Given the description of an element on the screen output the (x, y) to click on. 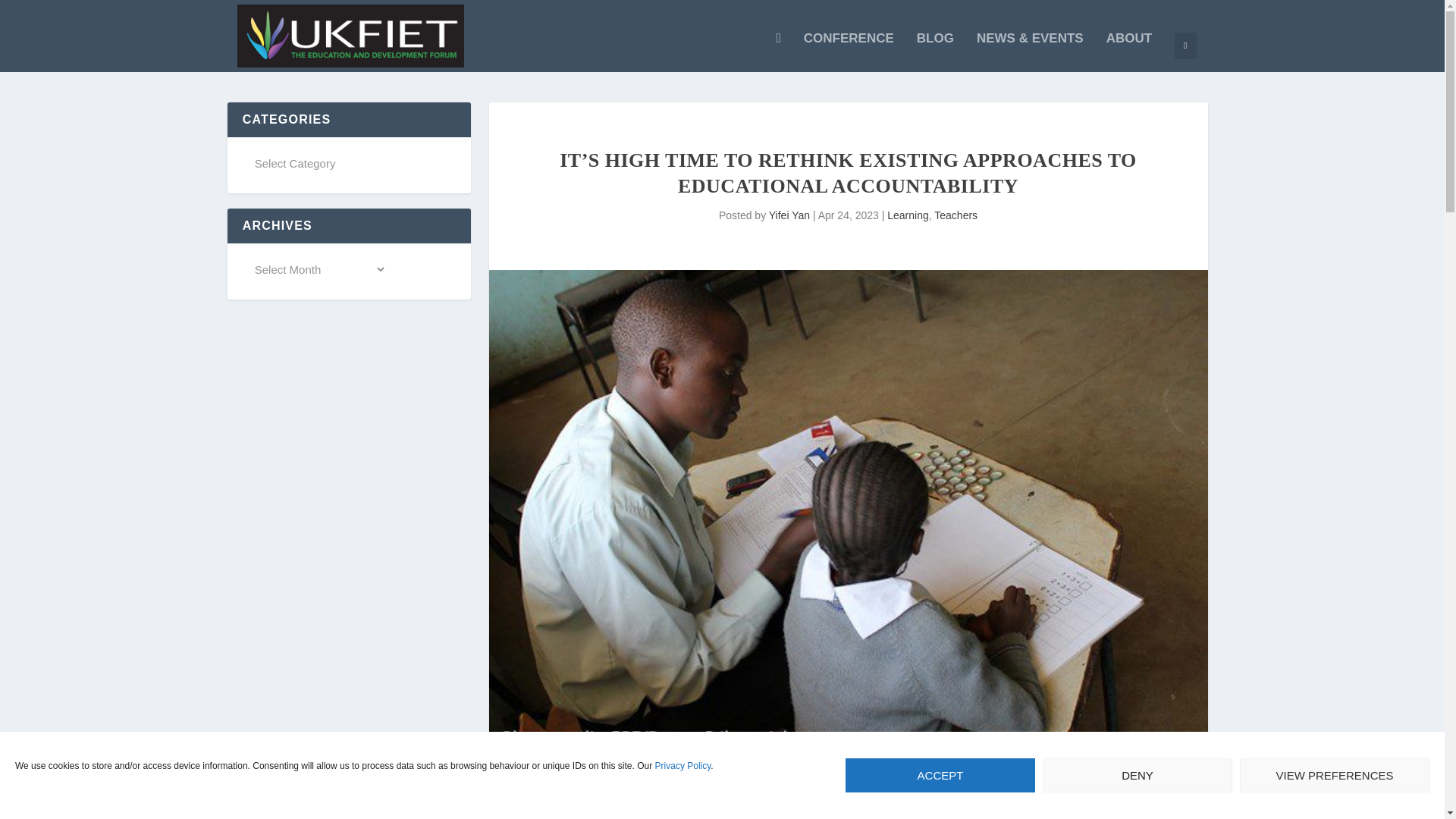
About UKFIET (1128, 52)
Posts by Yifei Yan (788, 215)
VIEW PREFERENCES (1334, 775)
Teachers (955, 215)
CONFERENCE (848, 52)
Blog Page (935, 52)
ACCEPT (940, 775)
Learning (907, 215)
